Given the description of an element on the screen output the (x, y) to click on. 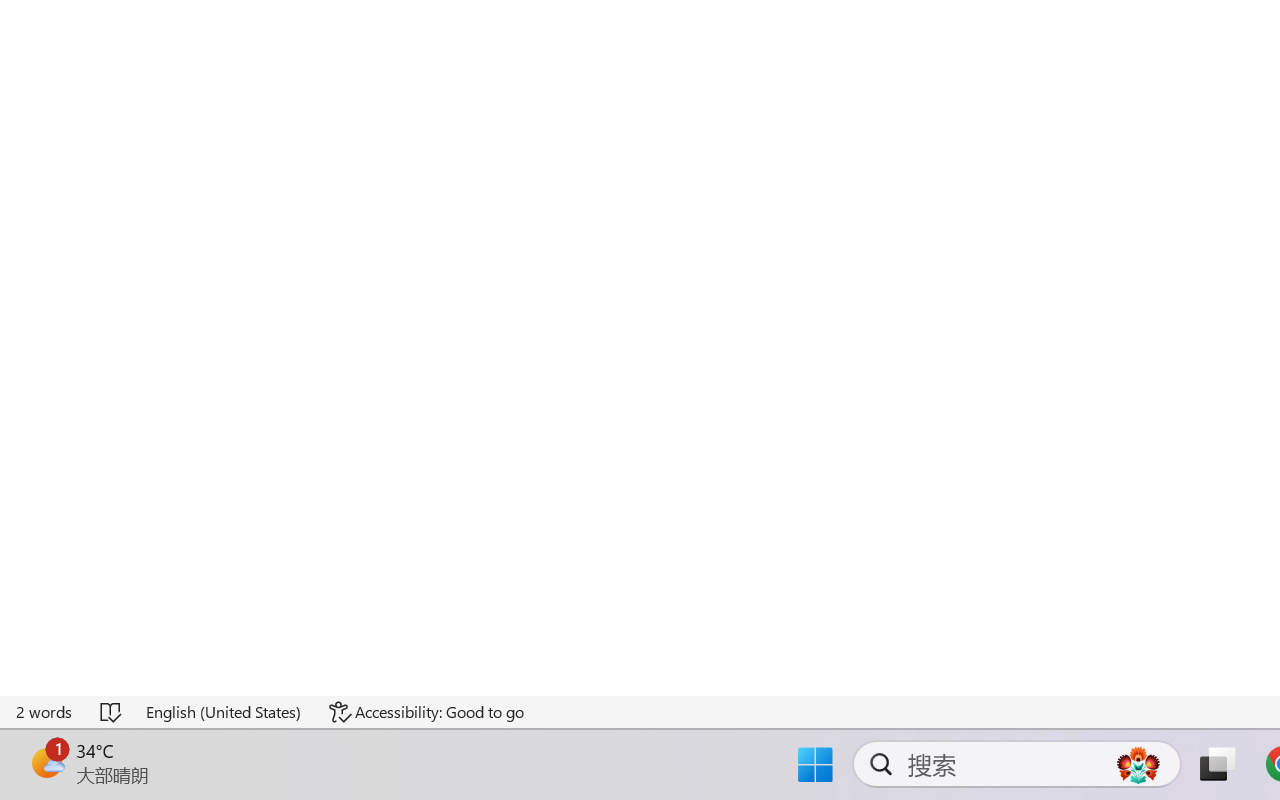
Language English (United States) (224, 712)
AutomationID: BadgeAnchorLargeTicker (46, 762)
Word Count 2 words (45, 712)
AutomationID: DynamicSearchBoxGleamImage (1138, 764)
Spelling and Grammar Check No Errors (112, 712)
Accessibility Checker Accessibility: Good to go (426, 712)
